Given the description of an element on the screen output the (x, y) to click on. 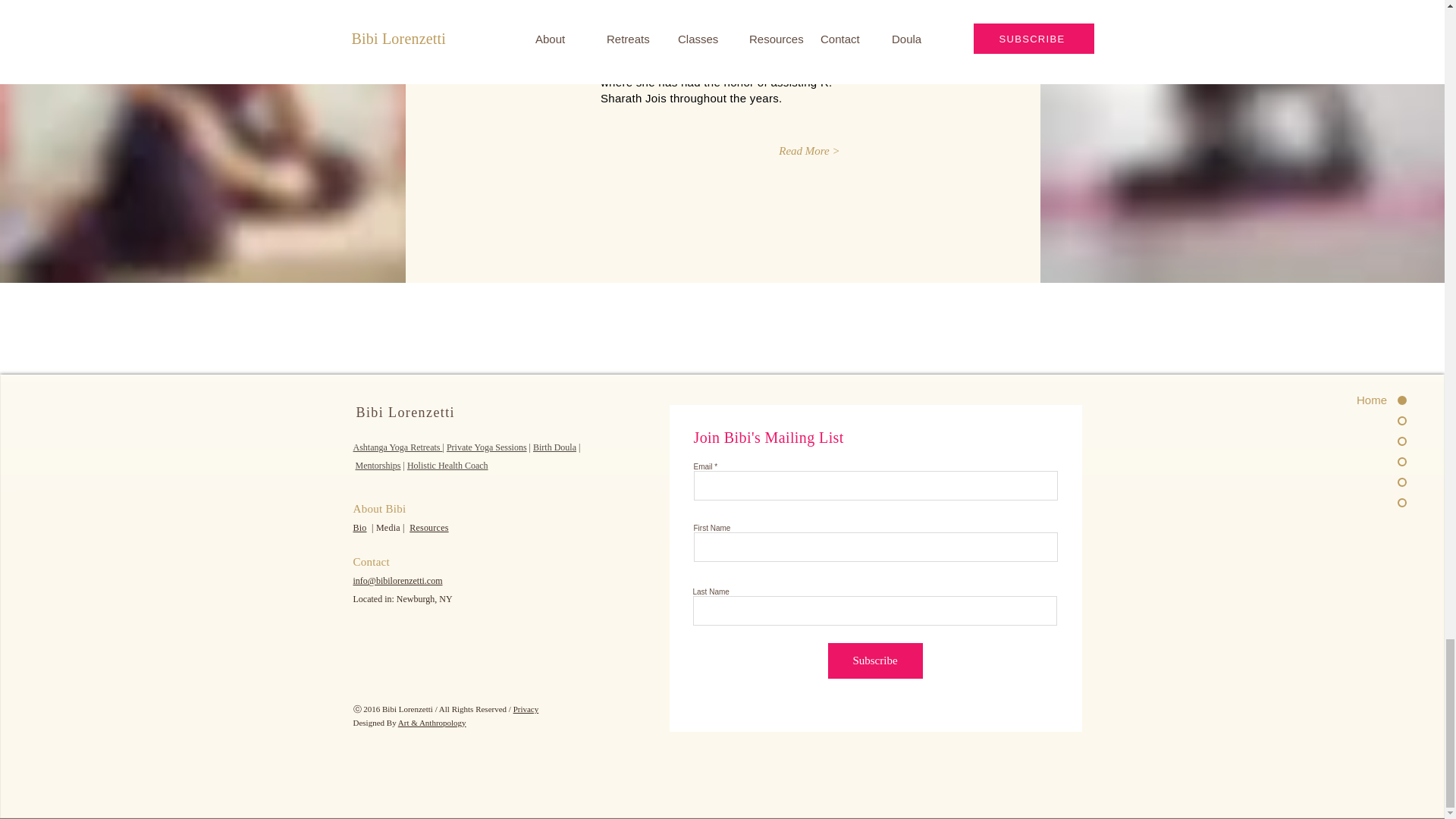
Holistic Health Coach (447, 465)
Mentorships (377, 465)
Ashtanga Yoga Retreats (397, 447)
Bio (359, 527)
Private Yoga Sessions (486, 447)
Birth Doula (554, 447)
Newburgh Yoga Shala. S (679, 18)
Resources (428, 527)
